Given the description of an element on the screen output the (x, y) to click on. 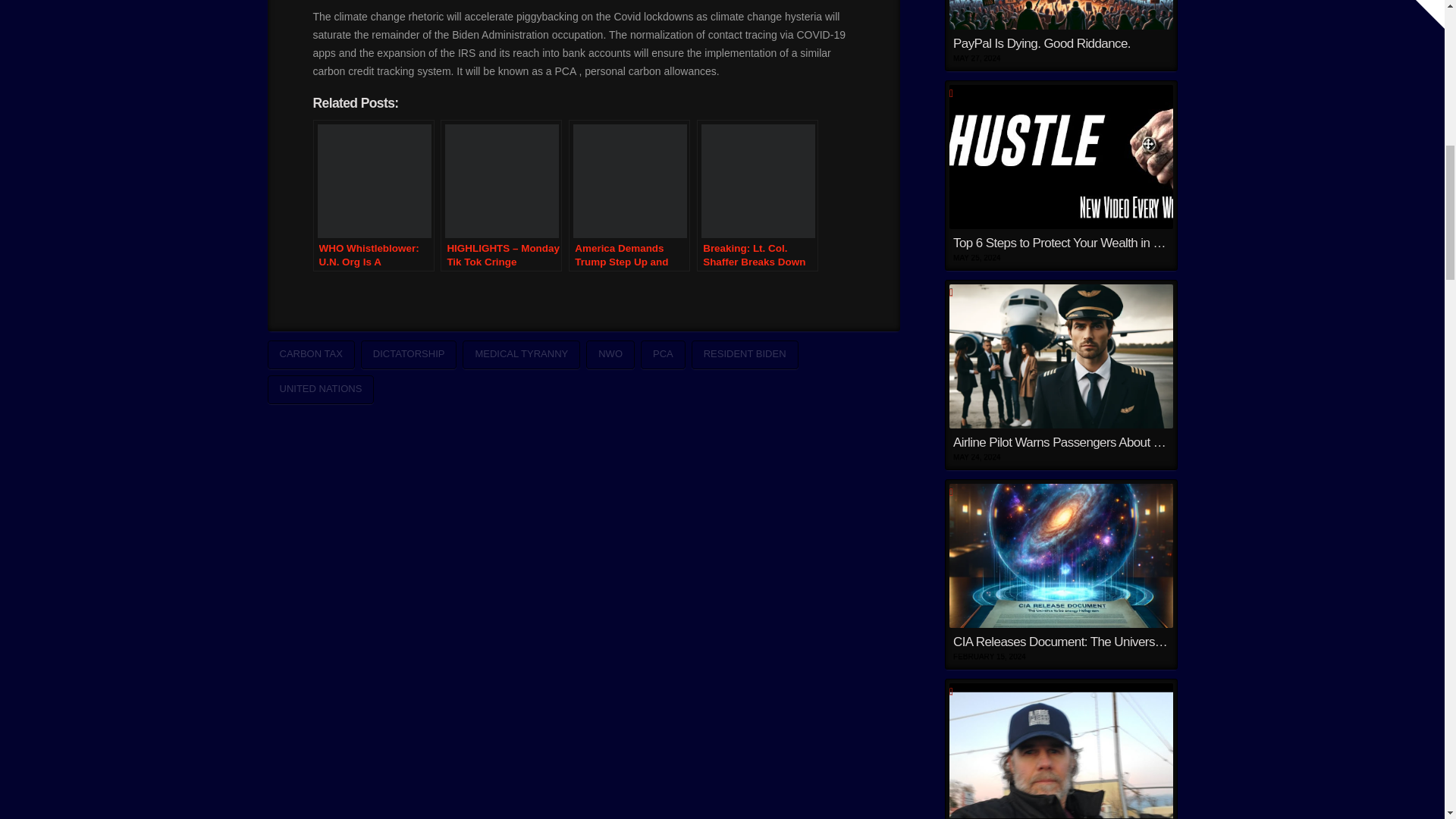
WHO Whistleblower: U.N. Org Is A Dictatorship (373, 195)
Permalink to: "PayPal Is Dying. Good Riddance." (1060, 35)
